Given the description of an element on the screen output the (x, y) to click on. 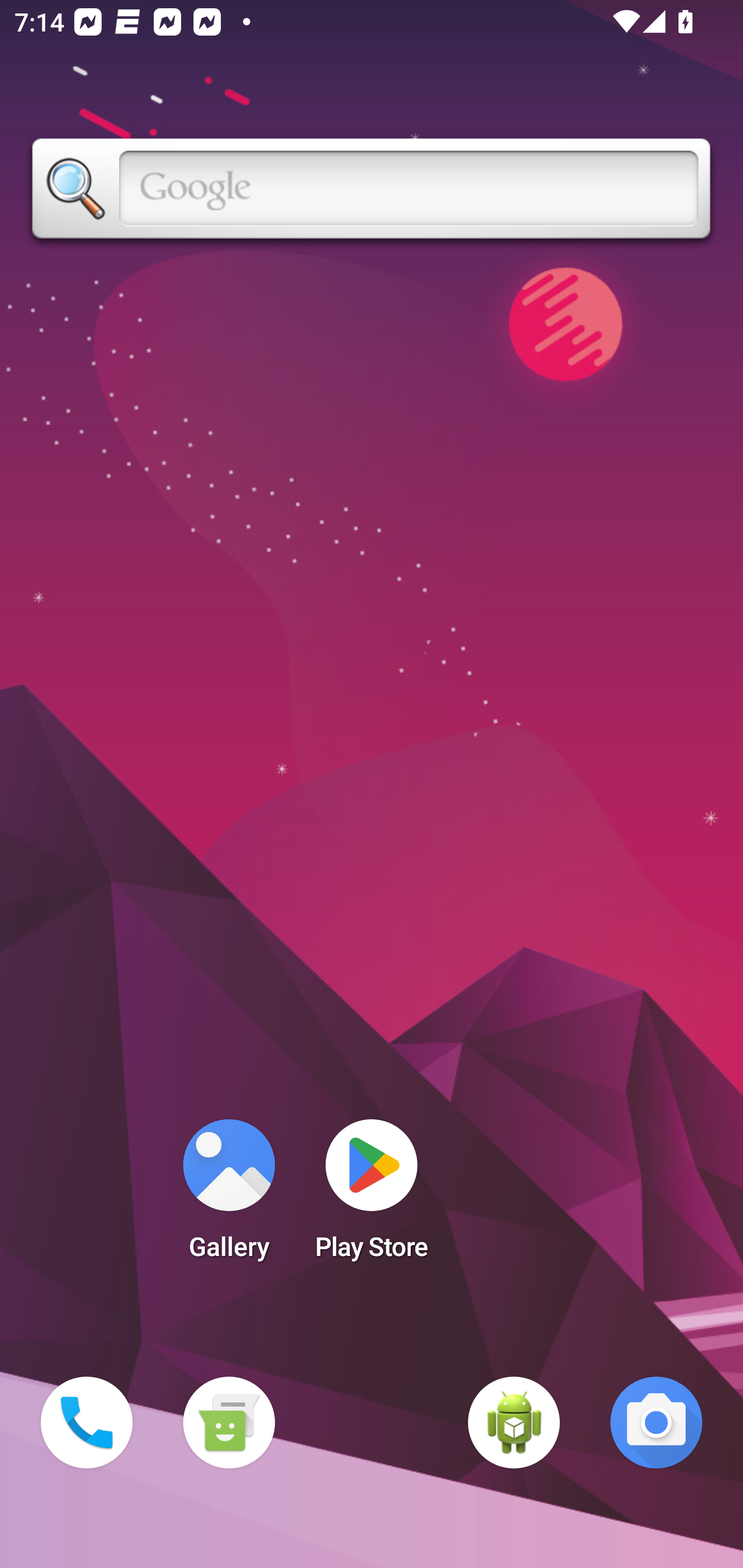
Gallery (228, 1195)
Play Store (371, 1195)
Phone (86, 1422)
Messaging (228, 1422)
WebView Browser Tester (513, 1422)
Camera (656, 1422)
